Given the description of an element on the screen output the (x, y) to click on. 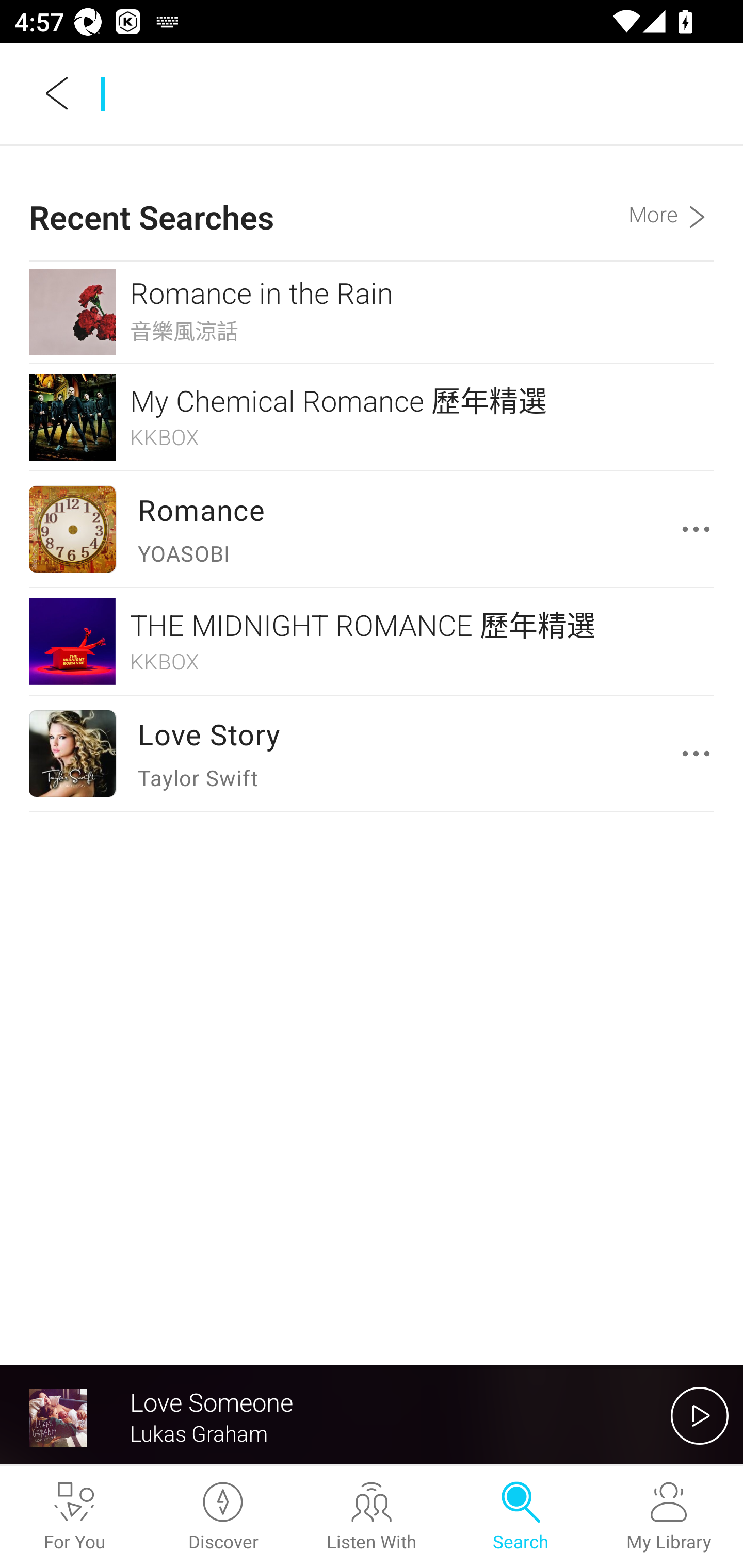
Back,outside of the list (57, 93)
More Recent Searches More (671, 202)
Romance in the Rain 音樂風涼話 (371, 311)
My Chemical Romance 歷年精選 KKBOX (371, 416)
Romance YOASOBI 更多操作選項 (371, 528)
更多操作選項 (699, 529)
THE MIDNIGHT ROMANCE 歷年精選 KKBOX (371, 641)
Love Story Taylor Swift 更多操作選項 (371, 753)
更多操作選項 (699, 753)
開始播放 (699, 1415)
For You (74, 1517)
Discover (222, 1517)
Listen With (371, 1517)
Search (519, 1517)
My Library (668, 1517)
